Given the description of an element on the screen output the (x, y) to click on. 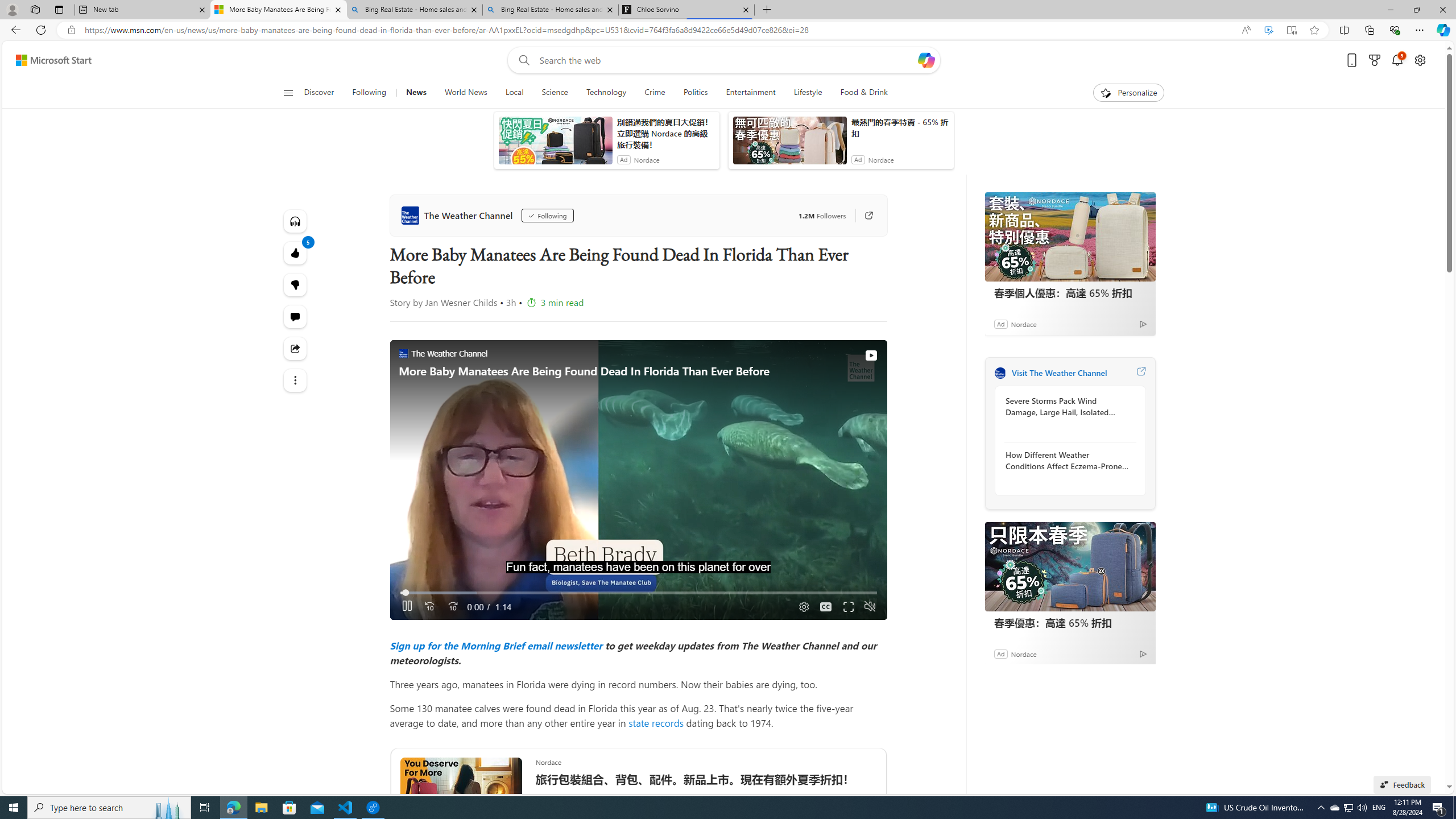
Technology (606, 92)
Technology (605, 92)
World News (465, 92)
Address and search bar (658, 29)
Open settings (1420, 60)
Personalize (1128, 92)
View on Watch View on Watch (844, 355)
Skip to content (49, 59)
Lifestyle (807, 92)
Quality Settings (801, 606)
Enhance video (1268, 29)
